Given the description of an element on the screen output the (x, y) to click on. 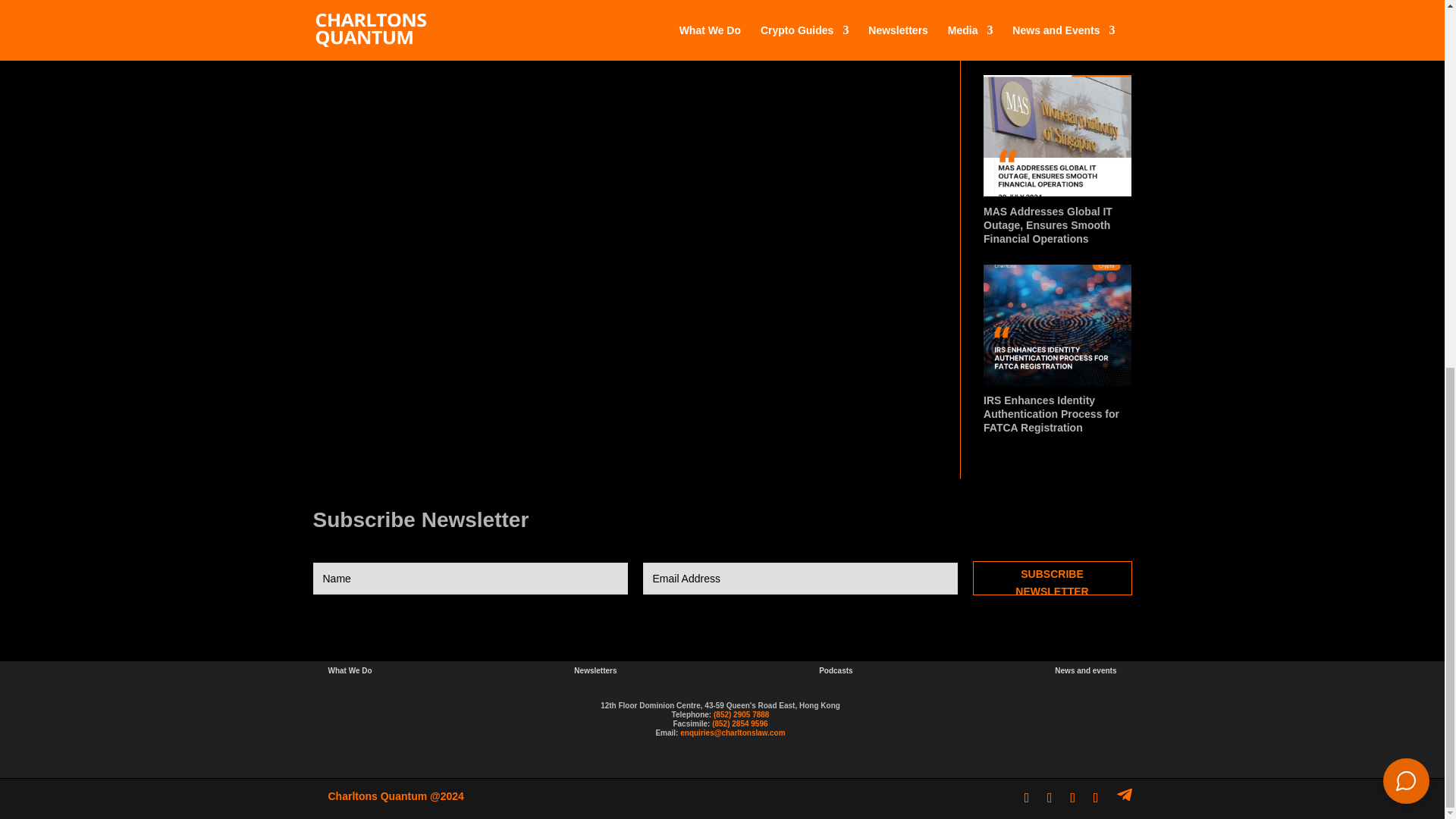
indemandly (1406, 117)
